Given the description of an element on the screen output the (x, y) to click on. 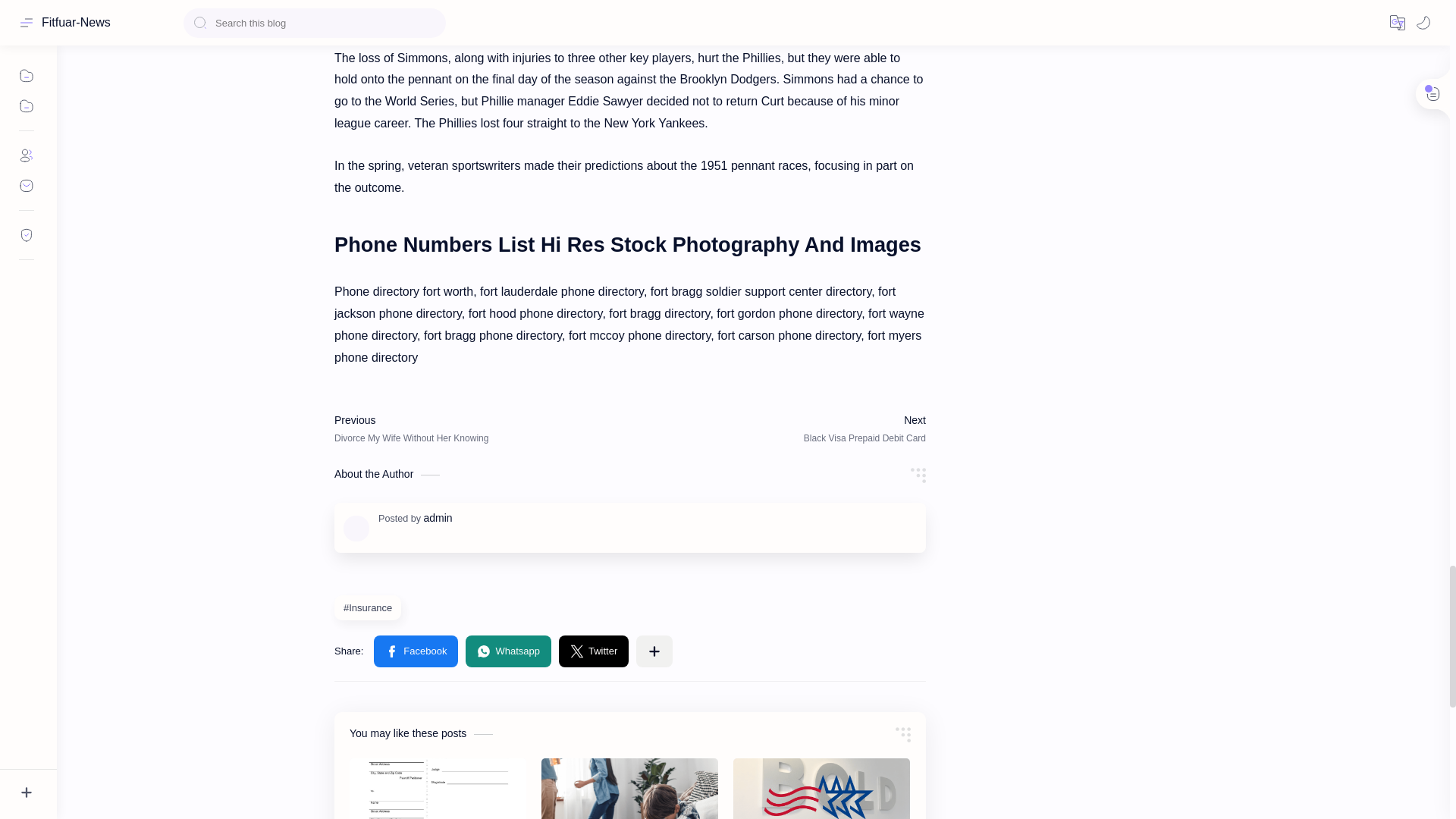
Questions To Ask Before Getting A Divorce (629, 788)
Tricare For Life Eligibility Verification For Providers (821, 788)
How To Get Divorce Papers In Ohio (437, 788)
